Given the description of an element on the screen output the (x, y) to click on. 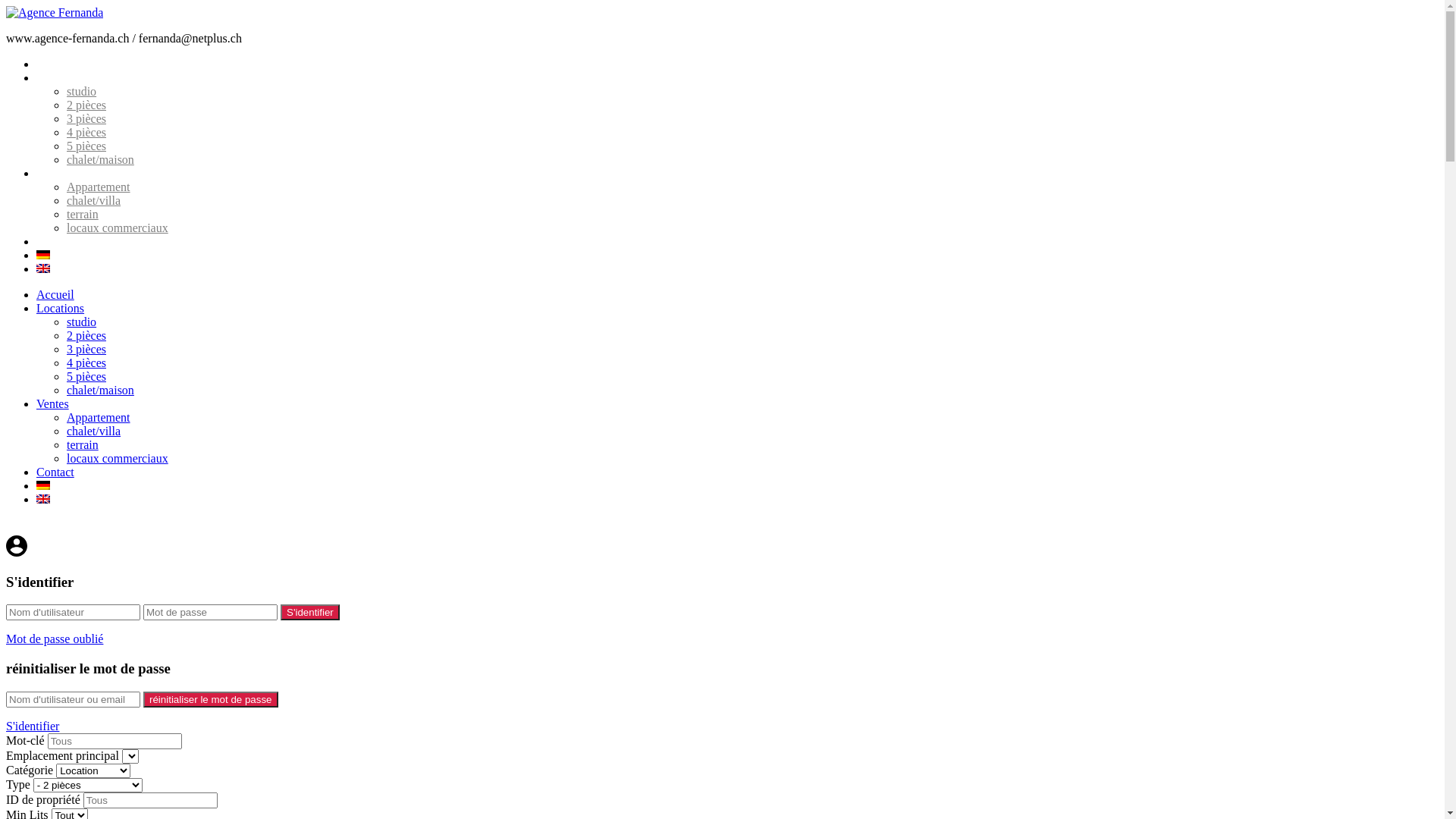
* Fournissez un nom d'utilisateur ou un courriel! Element type: hover (73, 699)
* Fournissez le nom d'utilisateur! Element type: hover (73, 612)
terrain Element type: text (82, 213)
+41 27 481 26 04 Element type: text (65, 527)
chalet/maison Element type: text (100, 159)
S'identifier Element type: text (32, 725)
terrain Element type: text (82, 444)
Accueil Element type: text (55, 63)
S'identifier Element type: text (309, 612)
locaux commerciaux Element type: text (117, 227)
locaux commerciaux Element type: text (117, 457)
studio Element type: text (81, 90)
Deutsch Element type: hover (43, 254)
chalet/villa Element type: text (93, 200)
English Element type: hover (43, 498)
chalet/villa Element type: text (93, 430)
Locations Element type: text (60, 307)
Contact Element type: text (55, 471)
studio Element type: text (81, 321)
Ventes Element type: text (52, 403)
Deutsch Element type: hover (43, 484)
Locations Element type: text (60, 77)
Agence Fernanda Element type: hover (54, 12)
Contact Element type: text (55, 241)
Appartement Element type: text (98, 186)
Appartement Element type: text (98, 417)
Ventes Element type: text (52, 172)
* Fournir un mot de passe! Element type: hover (210, 612)
chalet/maison Element type: text (100, 389)
English Element type: hover (43, 268)
Accueil Element type: text (55, 294)
